Given the description of an element on the screen output the (x, y) to click on. 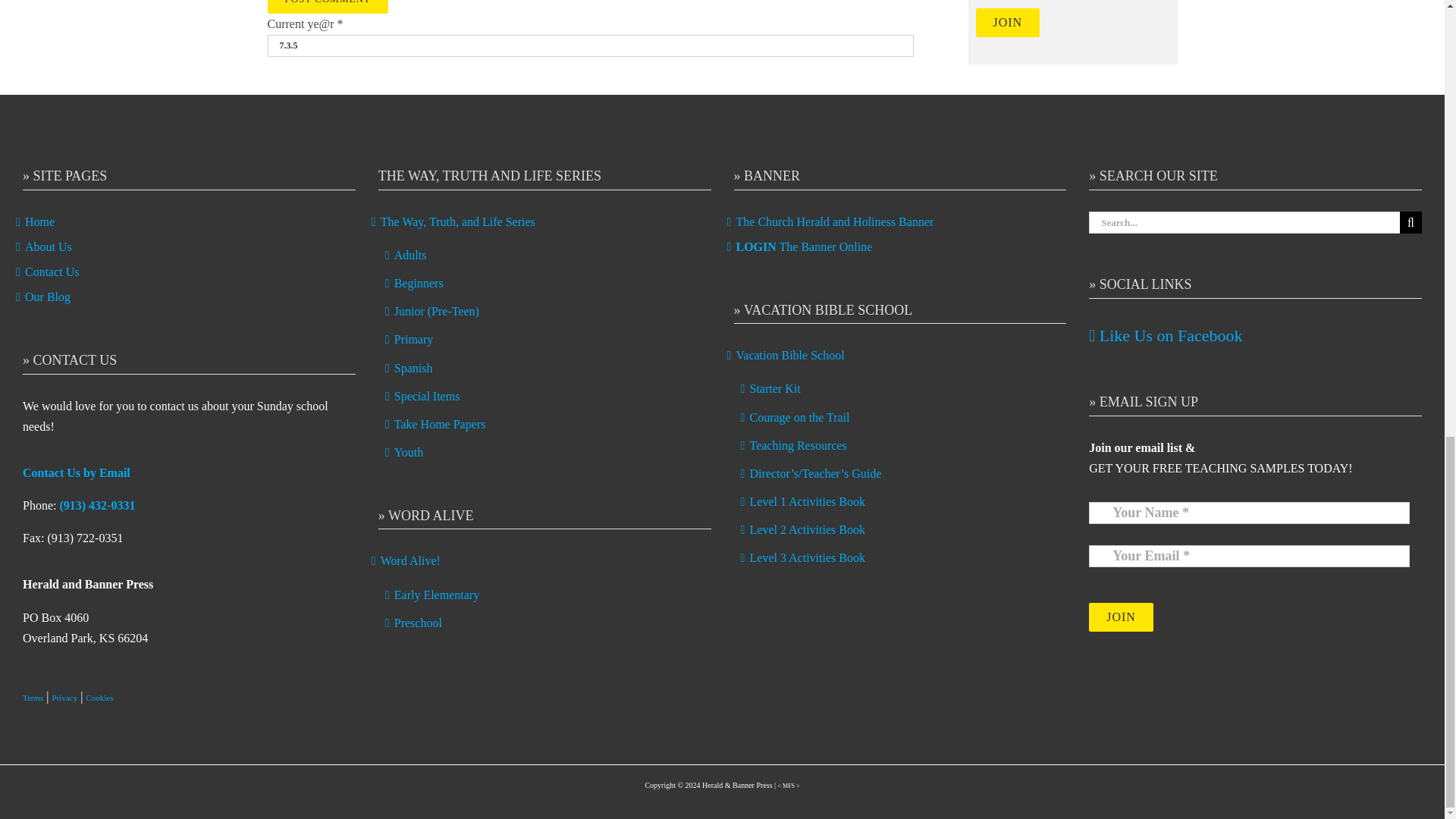
7.3.5 (589, 45)
Post Comment (326, 6)
JOIN (1007, 22)
JOIN (1121, 616)
